Given the description of an element on the screen output the (x, y) to click on. 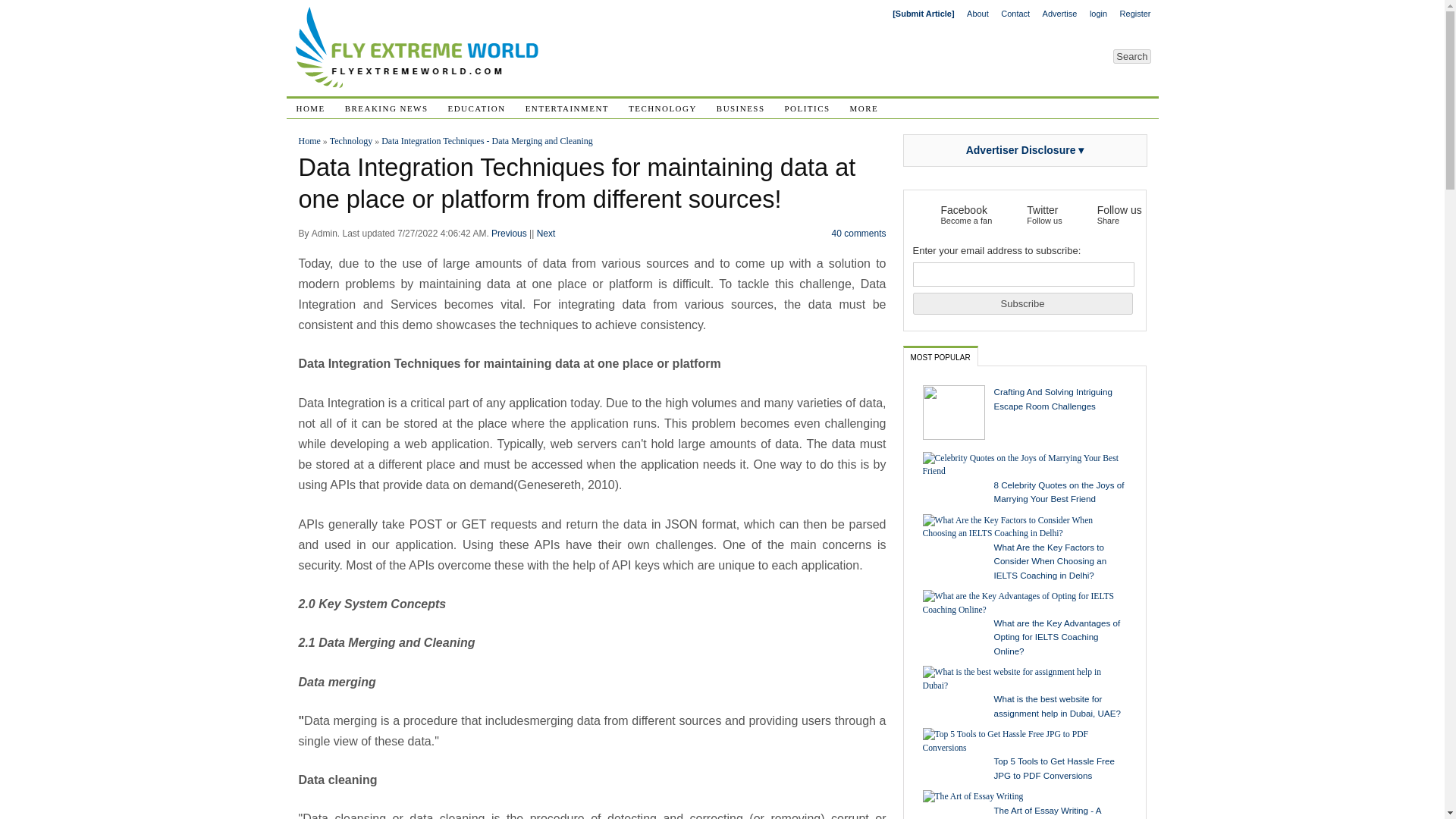
Advertise (1059, 13)
Next (546, 233)
MORE (864, 108)
Data Integration Techniques - Data Merging and Cleaning (486, 140)
Admin (324, 233)
BUSINESS (740, 108)
Advertising Request (1059, 13)
Education (476, 108)
Digital Advertising Agency (419, 84)
Register (1135, 13)
Subscribe (1022, 303)
Search (1131, 55)
POLITICS (807, 108)
Entertainment (566, 108)
Submit Article (922, 13)
